Given the description of an element on the screen output the (x, y) to click on. 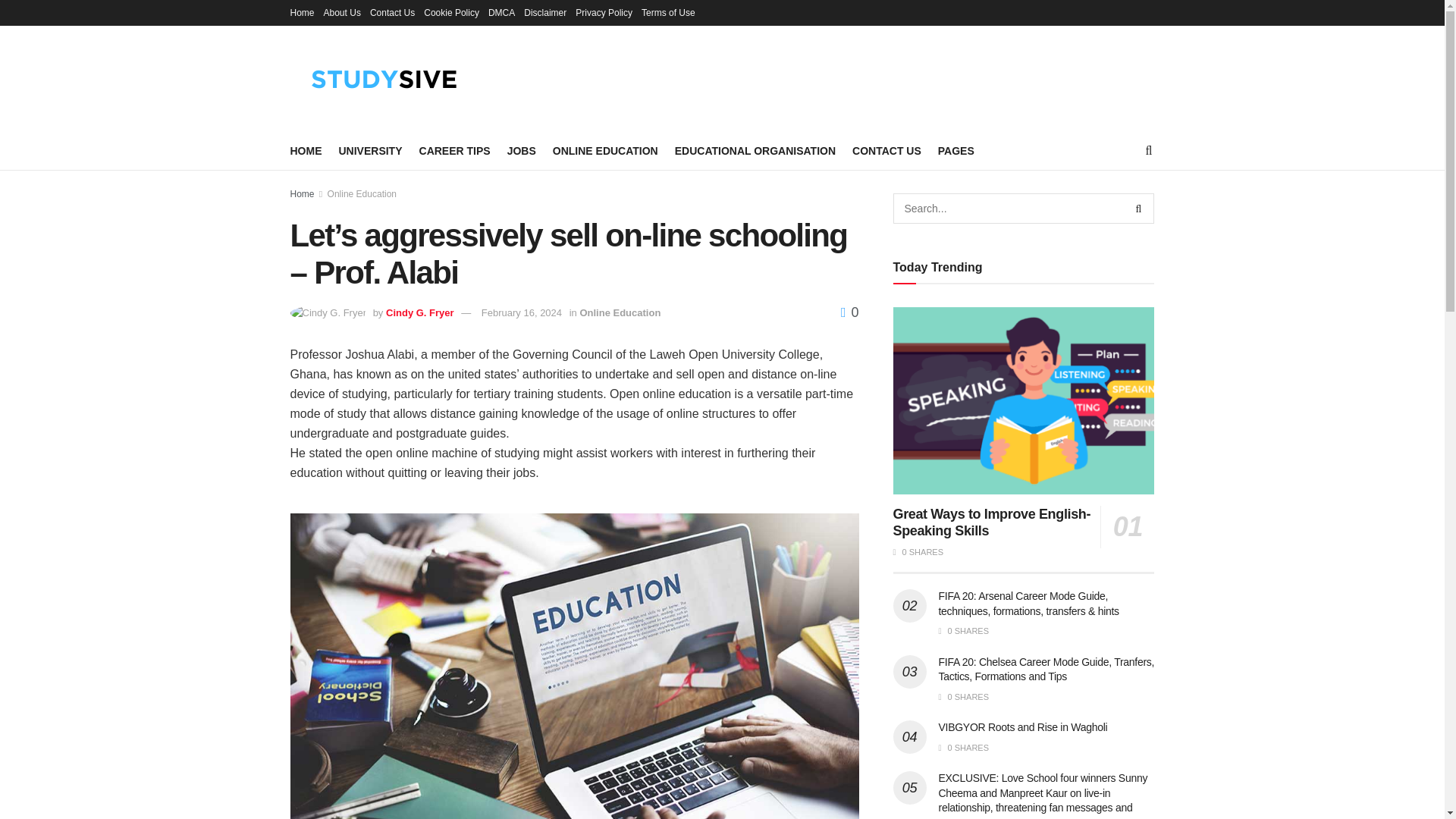
Great Ways to Improve English-Speaking Skills 3 (1023, 400)
Cookie Policy (451, 12)
CAREER TIPS (454, 150)
About Us (342, 12)
CONTACT US (886, 150)
HOME (305, 150)
PAGES (955, 150)
Contact Us (391, 12)
EDUCATIONAL ORGANISATION (755, 150)
JOBS (520, 150)
DMCA (501, 12)
UNIVERSITY (369, 150)
Home (301, 12)
Disclaimer (545, 12)
